Given the description of an element on the screen output the (x, y) to click on. 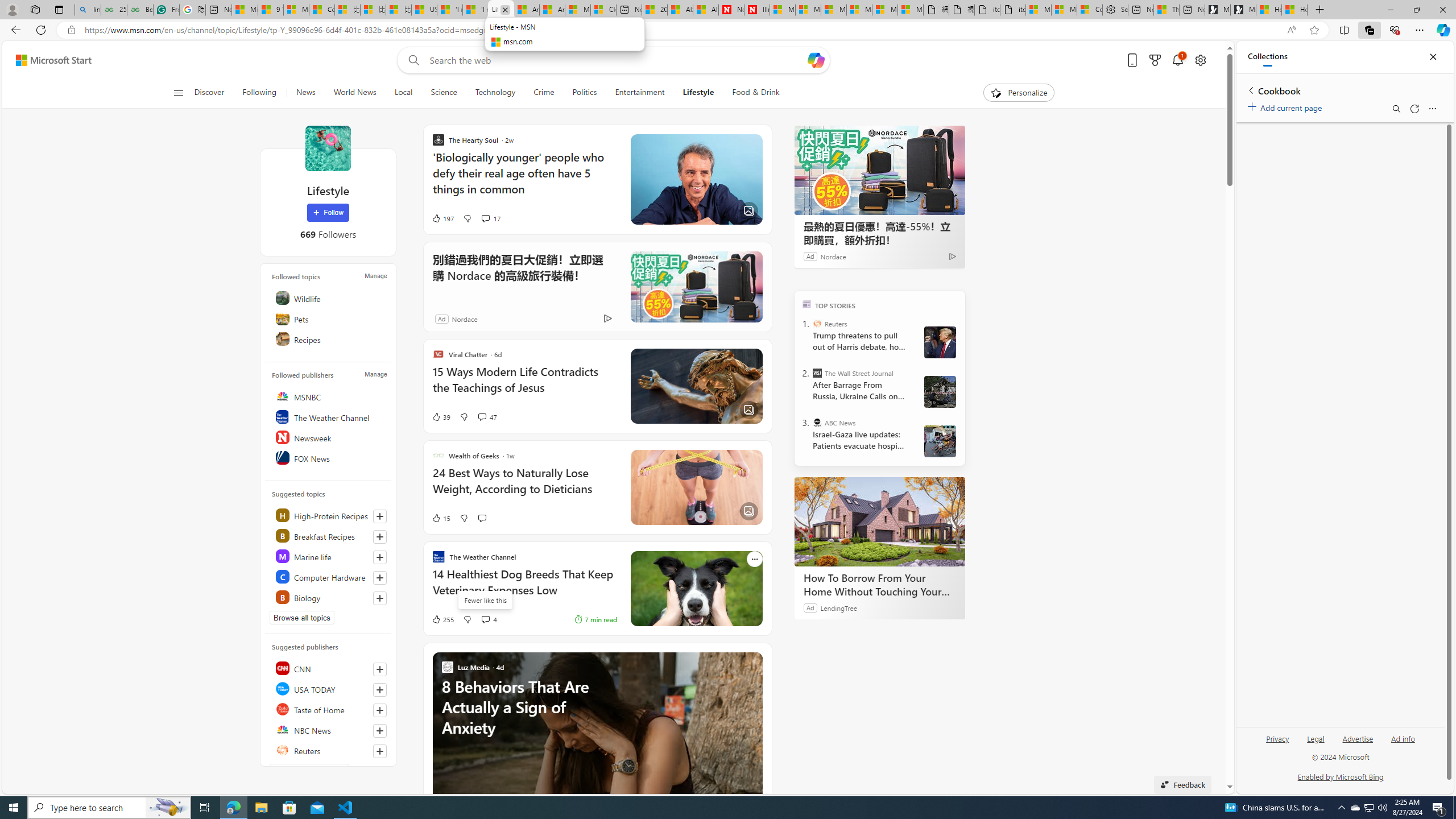
Ad Choice (606, 318)
View comments 4 Comment (485, 619)
Class: highlight (328, 597)
Ad info (1402, 738)
USA TODAY - MSN (424, 9)
Taste of Home (328, 709)
Advertise (1358, 742)
Open settings (1199, 60)
News (305, 92)
Politics (584, 92)
